Given the description of an element on the screen output the (x, y) to click on. 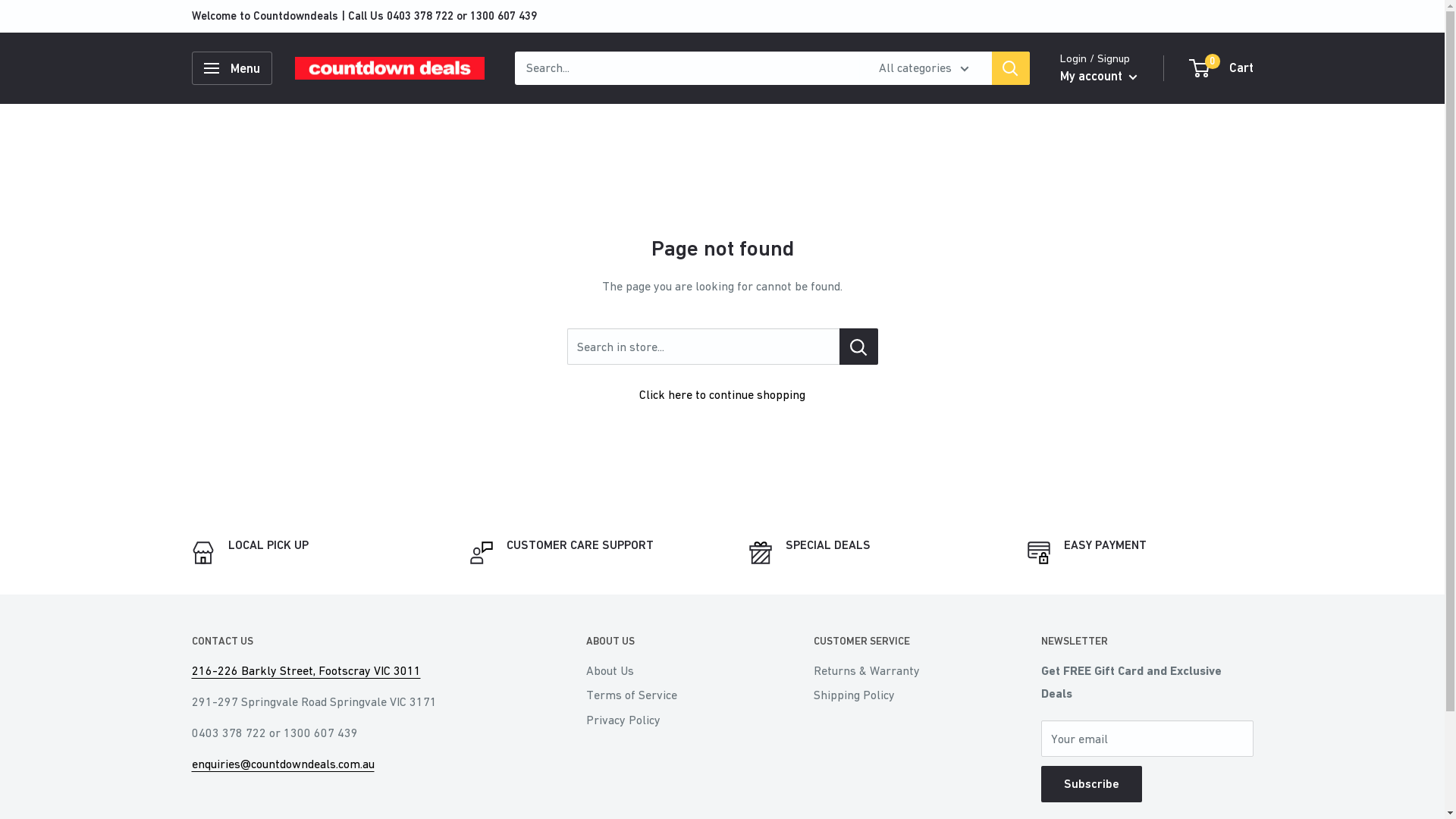
ABOUT US Element type: text (672, 641)
About Us Element type: text (672, 670)
My account Element type: text (1098, 76)
216-226 Barkly Street, Footscray VIC 3011 Element type: text (305, 670)
Returns & Warranty Element type: text (899, 670)
0
Cart Element type: text (1221, 68)
Privacy Policy Element type: text (672, 719)
Subscribe Element type: text (1090, 783)
Click here to continue shopping Element type: text (722, 394)
Terms of Service Element type: text (672, 694)
Shipping Policy Element type: text (899, 694)
CONTACT US Element type: text (361, 641)
CUSTOMER SERVICE Element type: text (899, 641)
Menu Element type: text (231, 67)
enquiries@countdowndeals.com.au Element type: text (282, 763)
Countdown Deals Element type: text (388, 68)
